Given the description of an element on the screen output the (x, y) to click on. 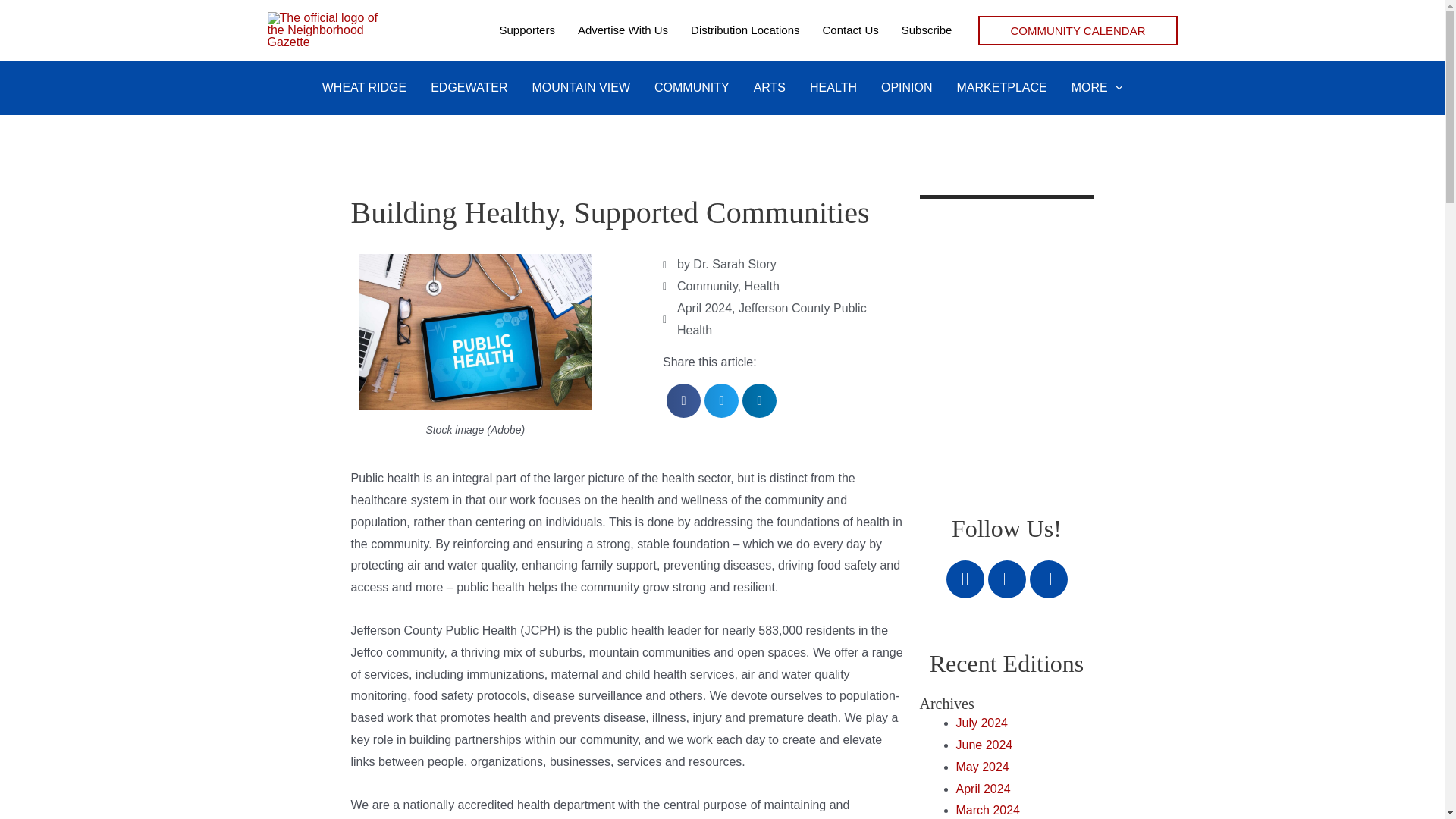
by Dr. Sarah Story (719, 264)
Subscribe (926, 30)
Health (761, 286)
COMMUNITY (691, 87)
WHEAT RIDGE (364, 87)
EDGEWATER (469, 87)
Instagram (1048, 579)
Facebook (965, 579)
MORE (1097, 87)
Jefferson County Public Health (771, 319)
Distribution Locations (744, 30)
Twitter (1006, 579)
Supporters (526, 30)
MOUNTAIN VIEW (580, 87)
Community (707, 286)
